Given the description of an element on the screen output the (x, y) to click on. 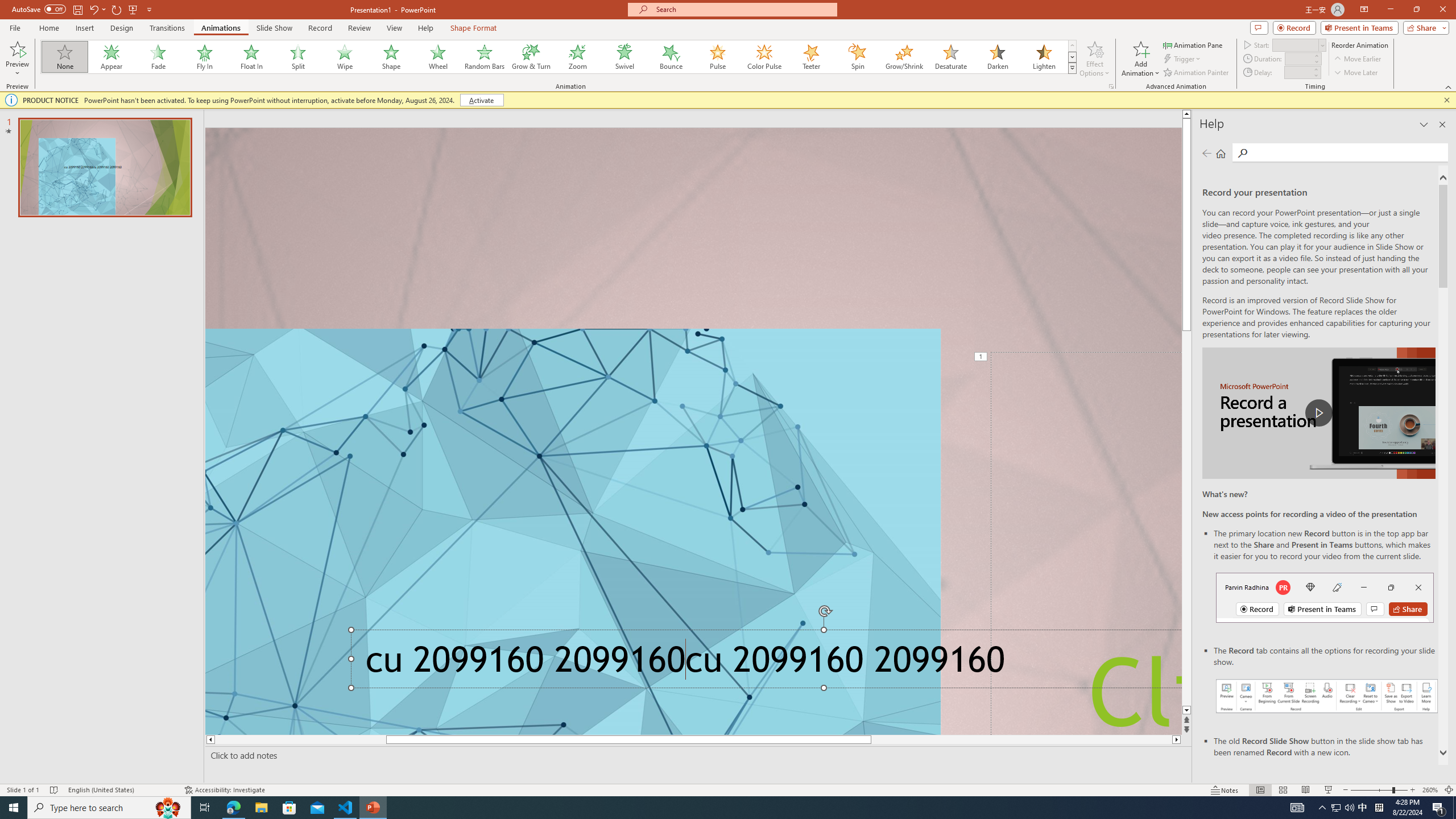
Darken (997, 56)
Pulse (717, 56)
Close this message (1446, 99)
Fly In (205, 56)
TextBox 61 (762, 663)
